Given the description of an element on the screen output the (x, y) to click on. 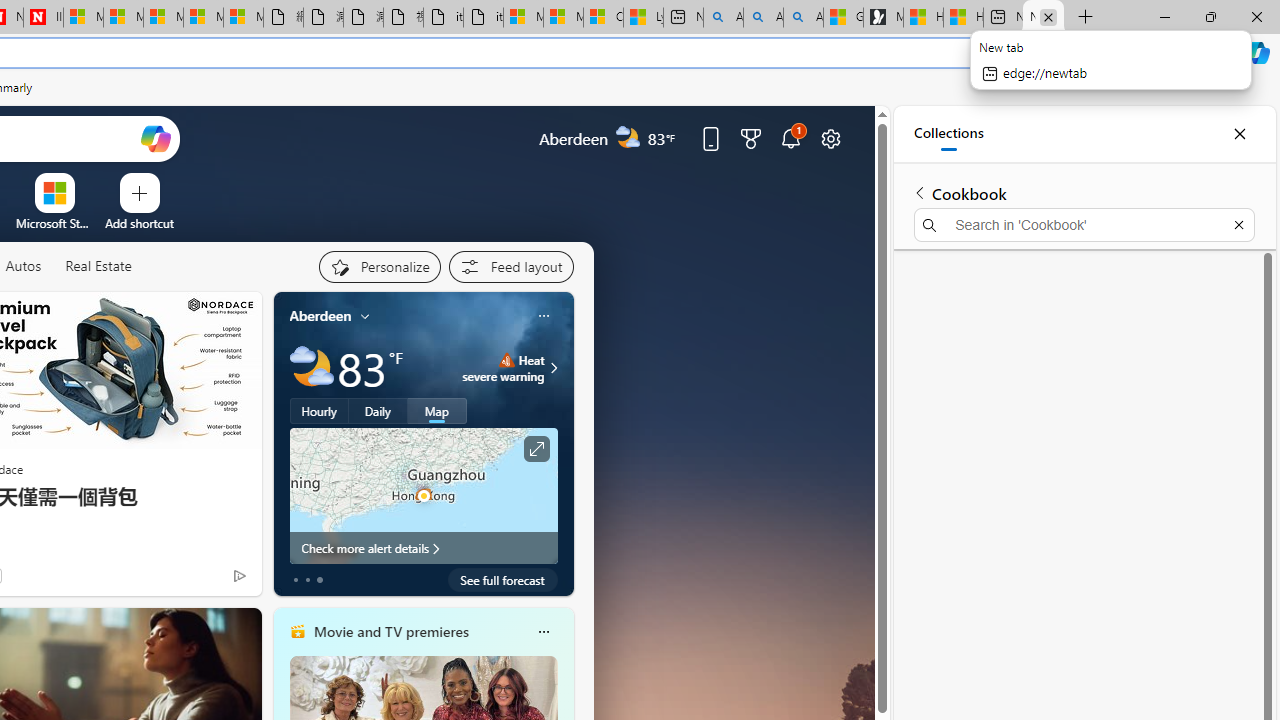
Daily (378, 411)
Illness news & latest pictures from Newsweek.com (43, 17)
Movie and TV premieres (390, 631)
Hourly (319, 411)
Page settings (831, 138)
Heat - Severe Heat severe warning (503, 367)
Search in 'Cookbook' (1084, 224)
